Given the description of an element on the screen output the (x, y) to click on. 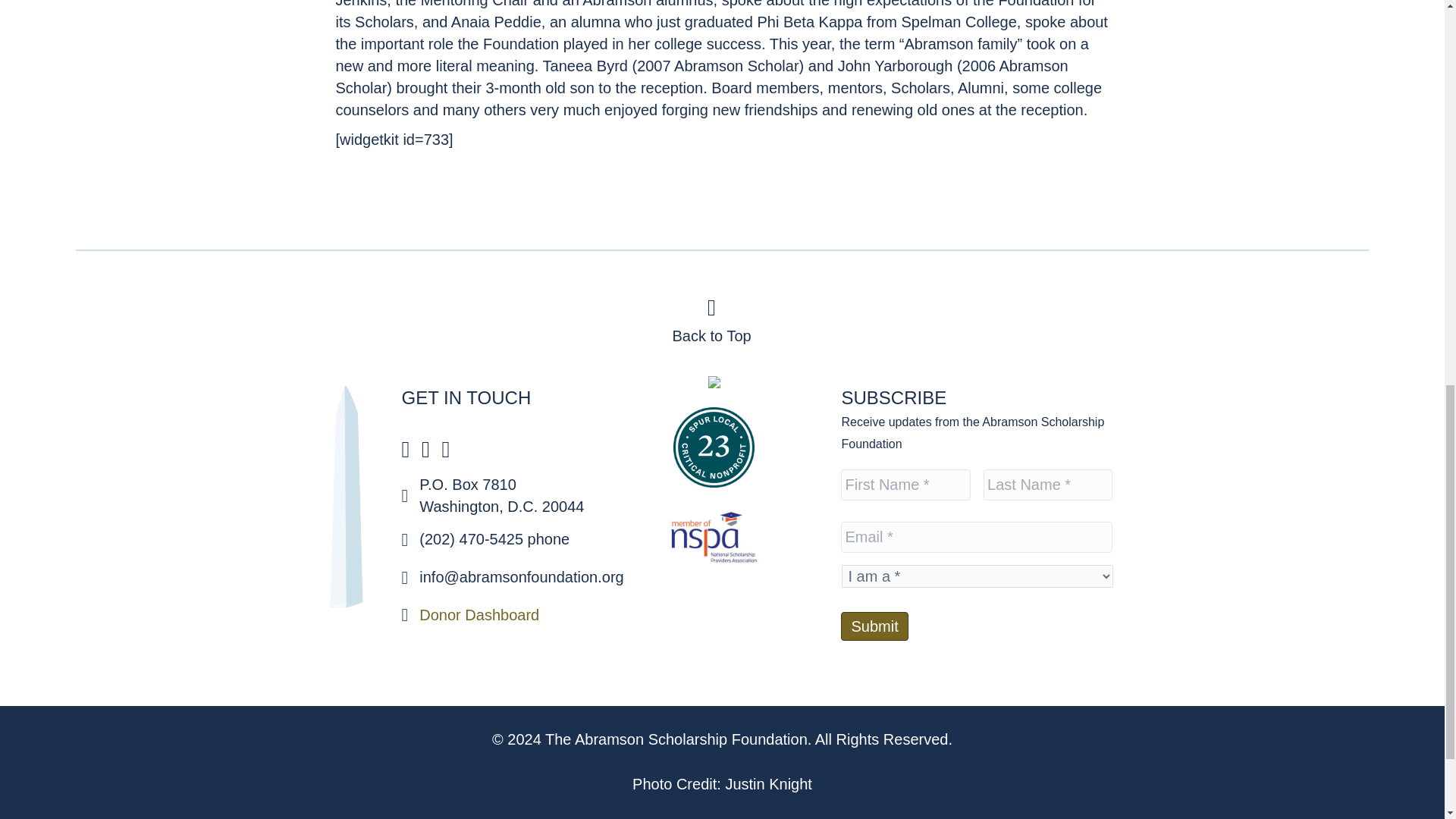
Donor Dashboard (478, 614)
NSPA-Member-Logo-Abramson (713, 539)
Submit (874, 624)
Submit (874, 624)
